Given the description of an element on the screen output the (x, y) to click on. 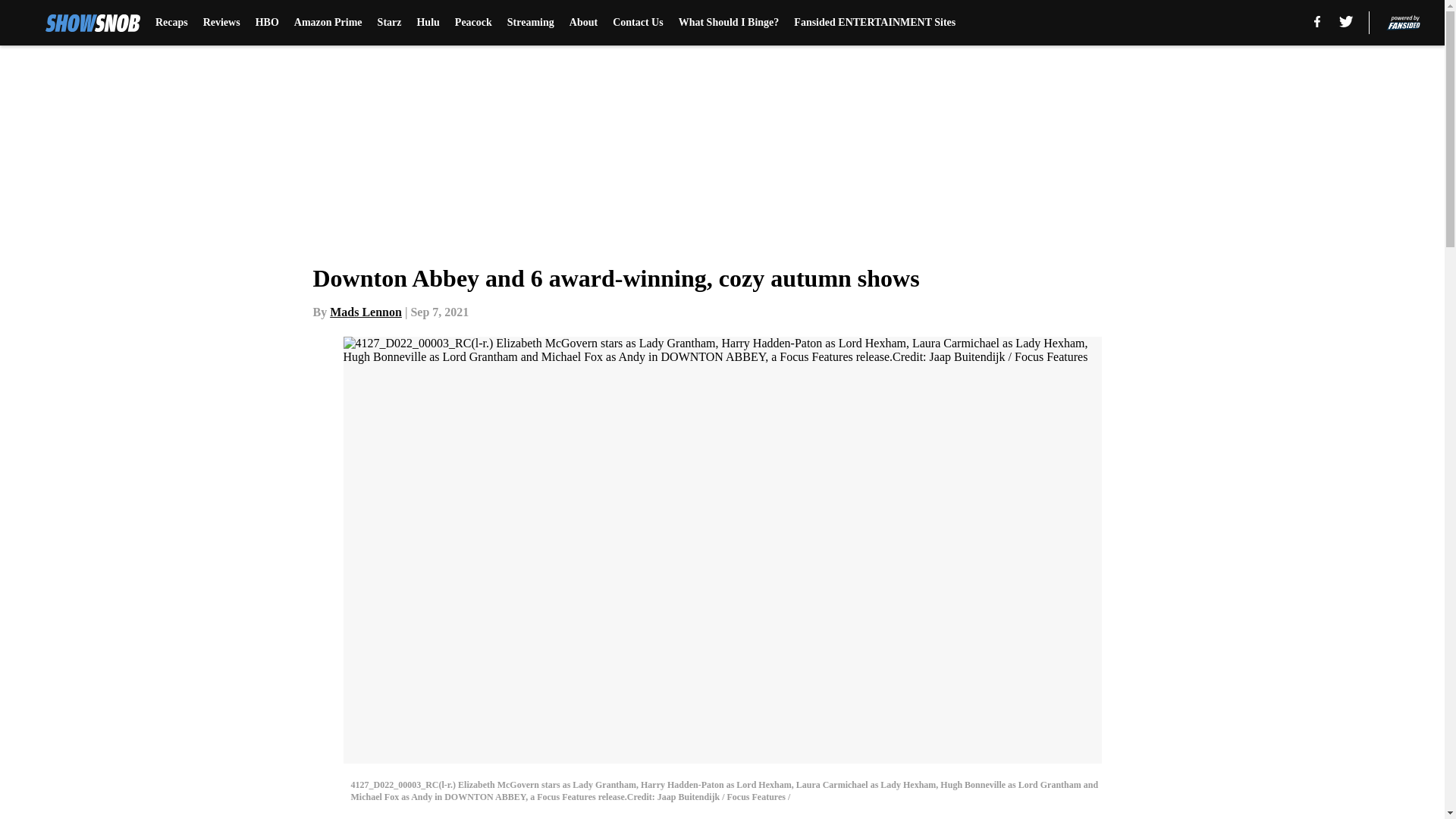
Amazon Prime (328, 22)
Reviews (221, 22)
About (582, 22)
Fansided ENTERTAINMENT Sites (874, 22)
What Should I Binge? (728, 22)
Peacock (473, 22)
HBO (267, 22)
Contact Us (637, 22)
Hulu (427, 22)
Recaps (171, 22)
Mads Lennon (365, 311)
Streaming (530, 22)
Starz (389, 22)
